Given the description of an element on the screen output the (x, y) to click on. 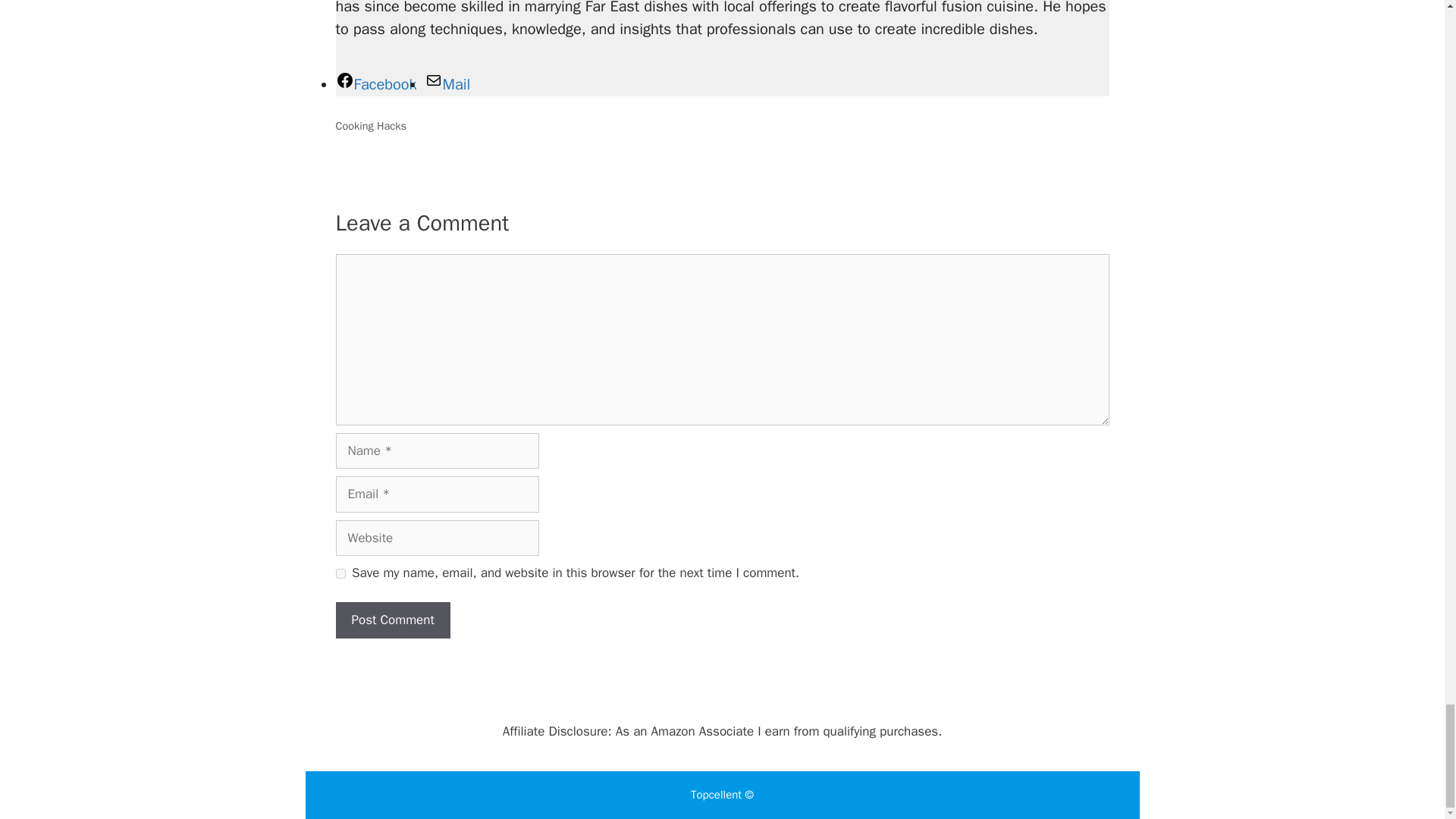
Post Comment (391, 619)
Post Comment (391, 619)
Facebook (375, 84)
yes (339, 573)
Cooking Hacks (370, 125)
Mail (447, 84)
